Given the description of an element on the screen output the (x, y) to click on. 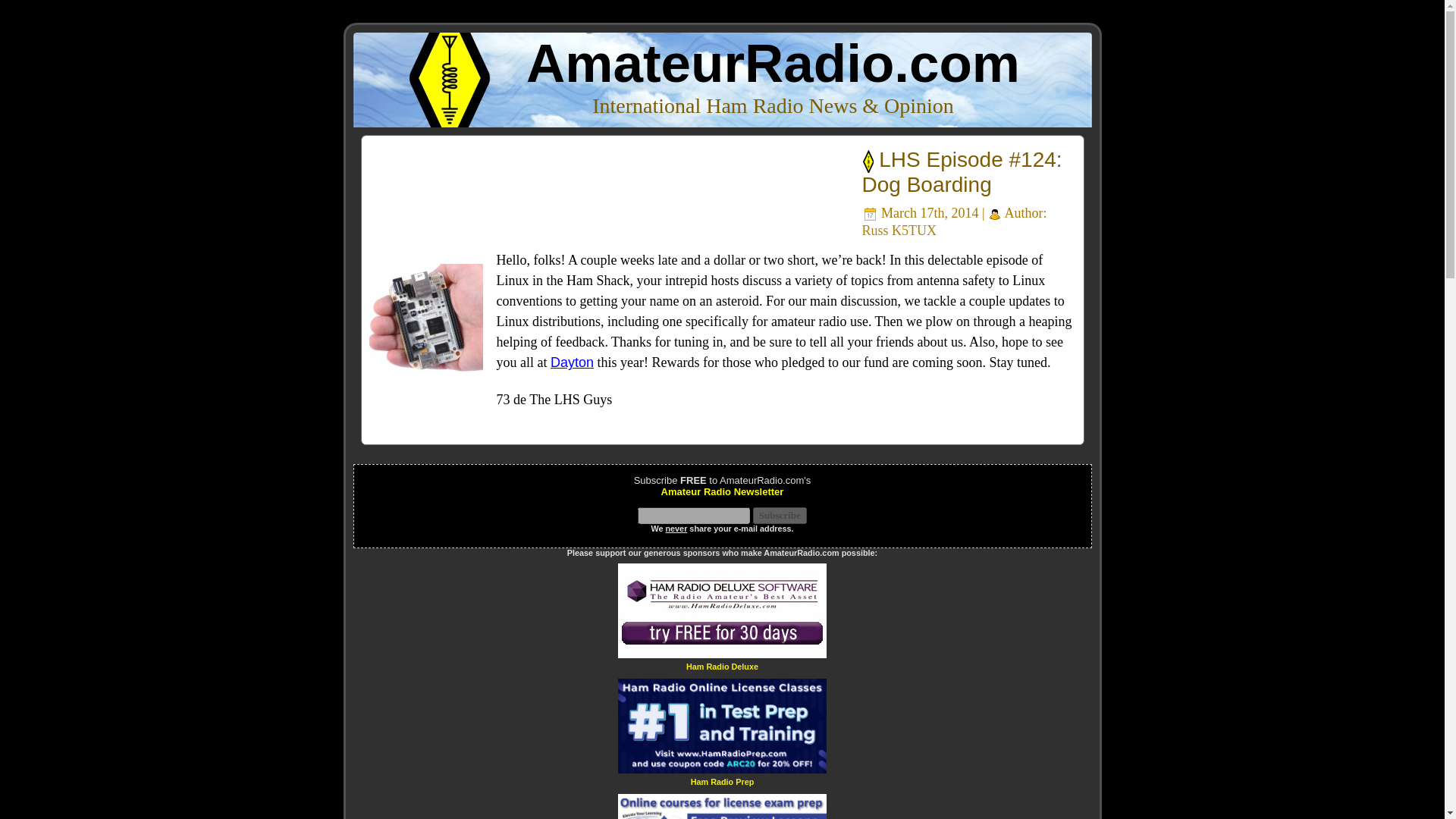
Ham Radio Prep (722, 781)
Ham Radio Deluxe (721, 665)
Dayton (572, 362)
Posts by Russ K5TUX (898, 230)
AmateurRadio.com (772, 63)
Dayton Hamvention 2014 (572, 362)
Subscribe (779, 515)
Russ K5TUX (898, 230)
Subscribe (779, 515)
